Given the description of an element on the screen output the (x, y) to click on. 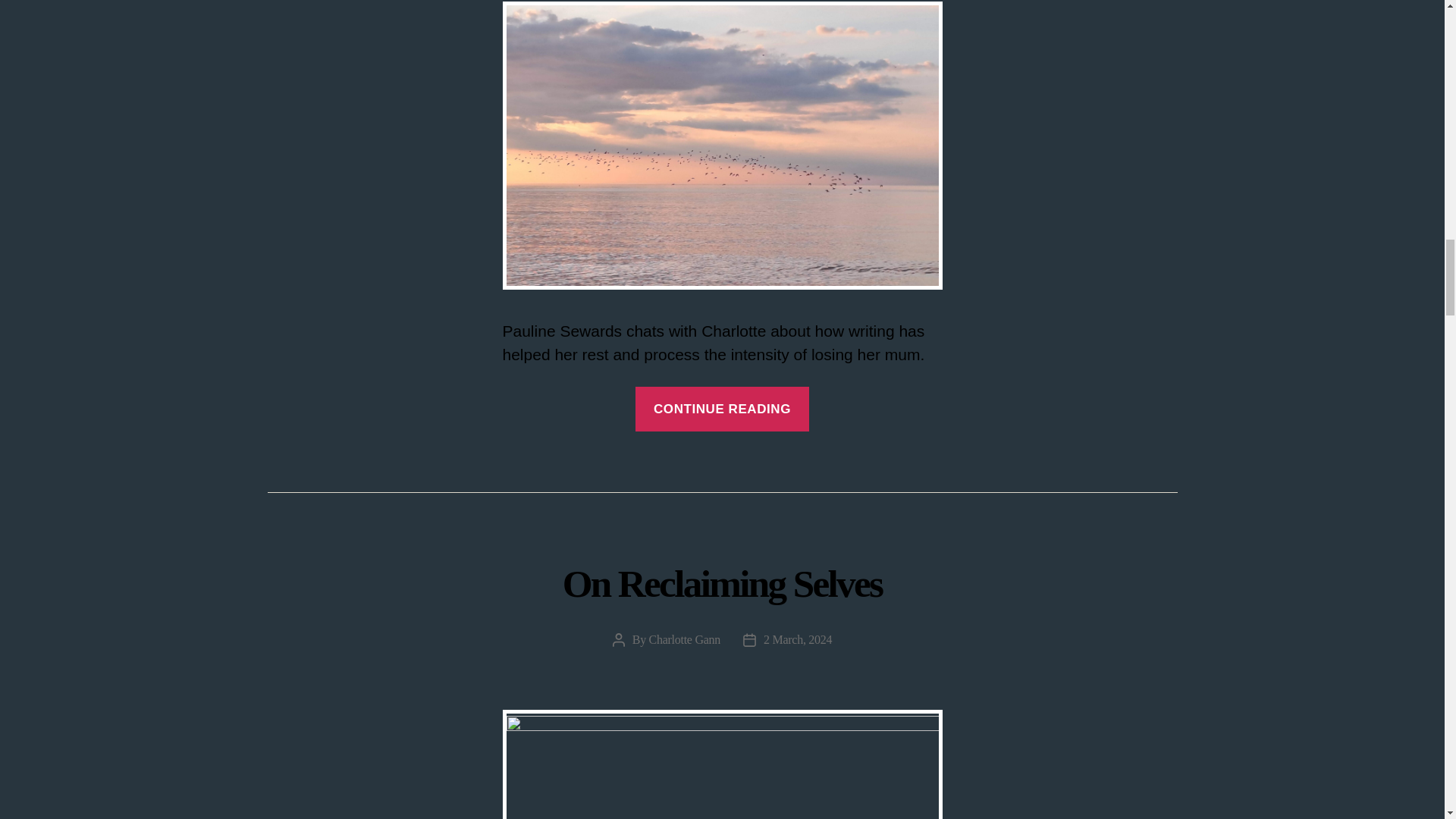
On Reclaiming Selves (722, 583)
